Given the description of an element on the screen output the (x, y) to click on. 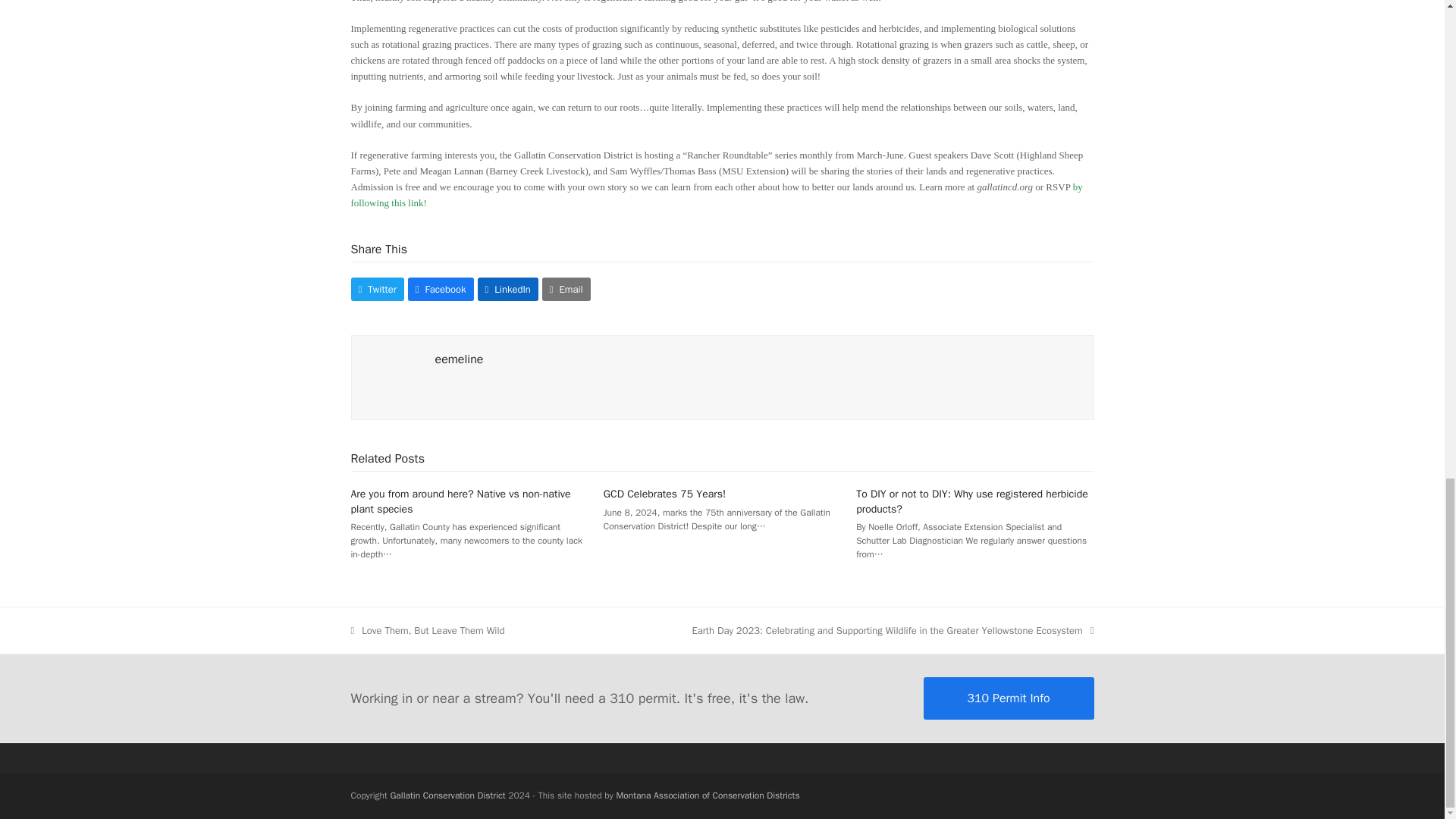
Visit Author Page (459, 359)
Visit Author Page (393, 377)
